Given the description of an element on the screen output the (x, y) to click on. 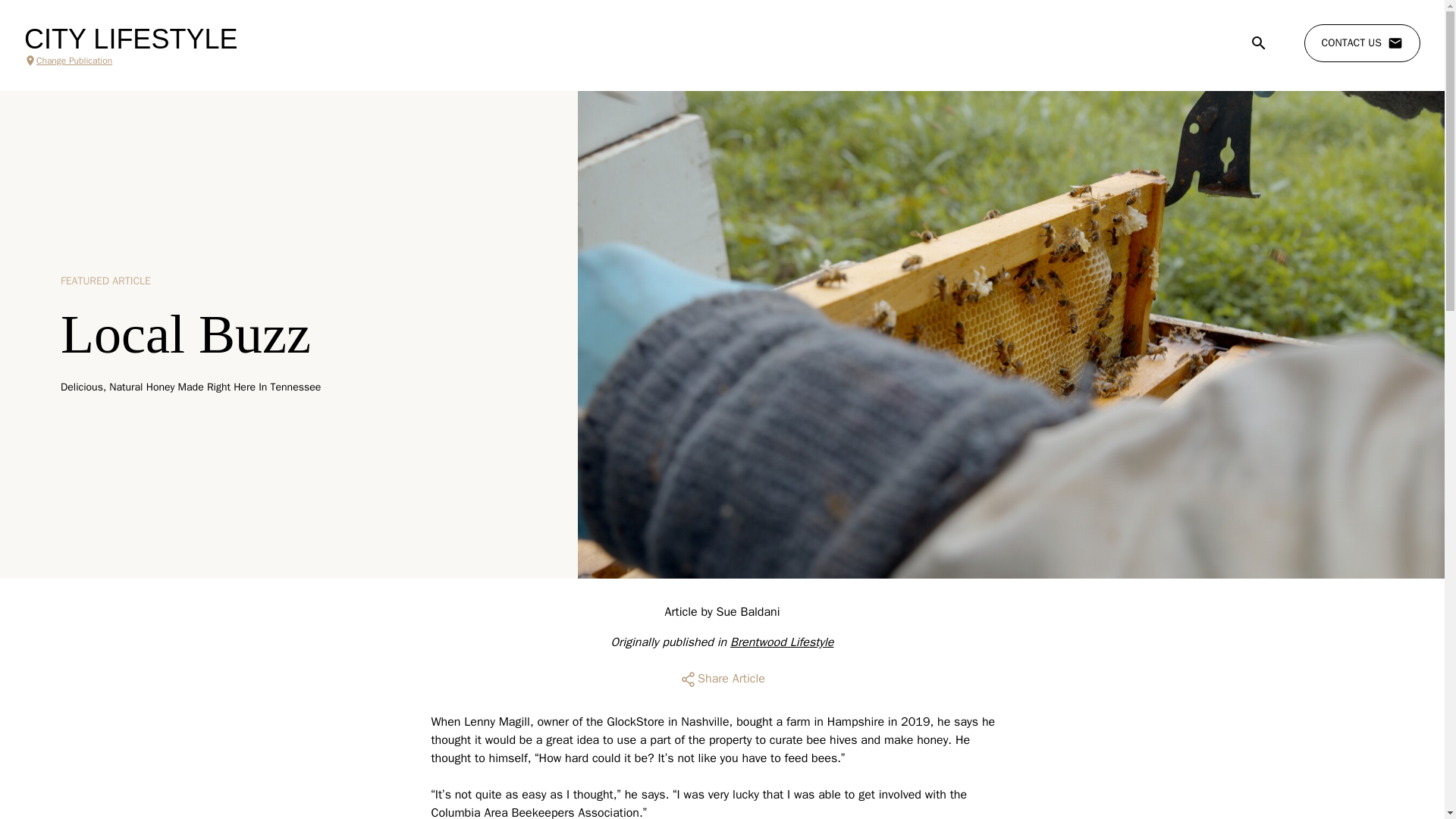
CONTACT US (1362, 43)
Change Publication (130, 60)
CITY LIFESTYLE (130, 39)
Brentwood Lifestyle (781, 642)
Share Article (722, 678)
